Given the description of an element on the screen output the (x, y) to click on. 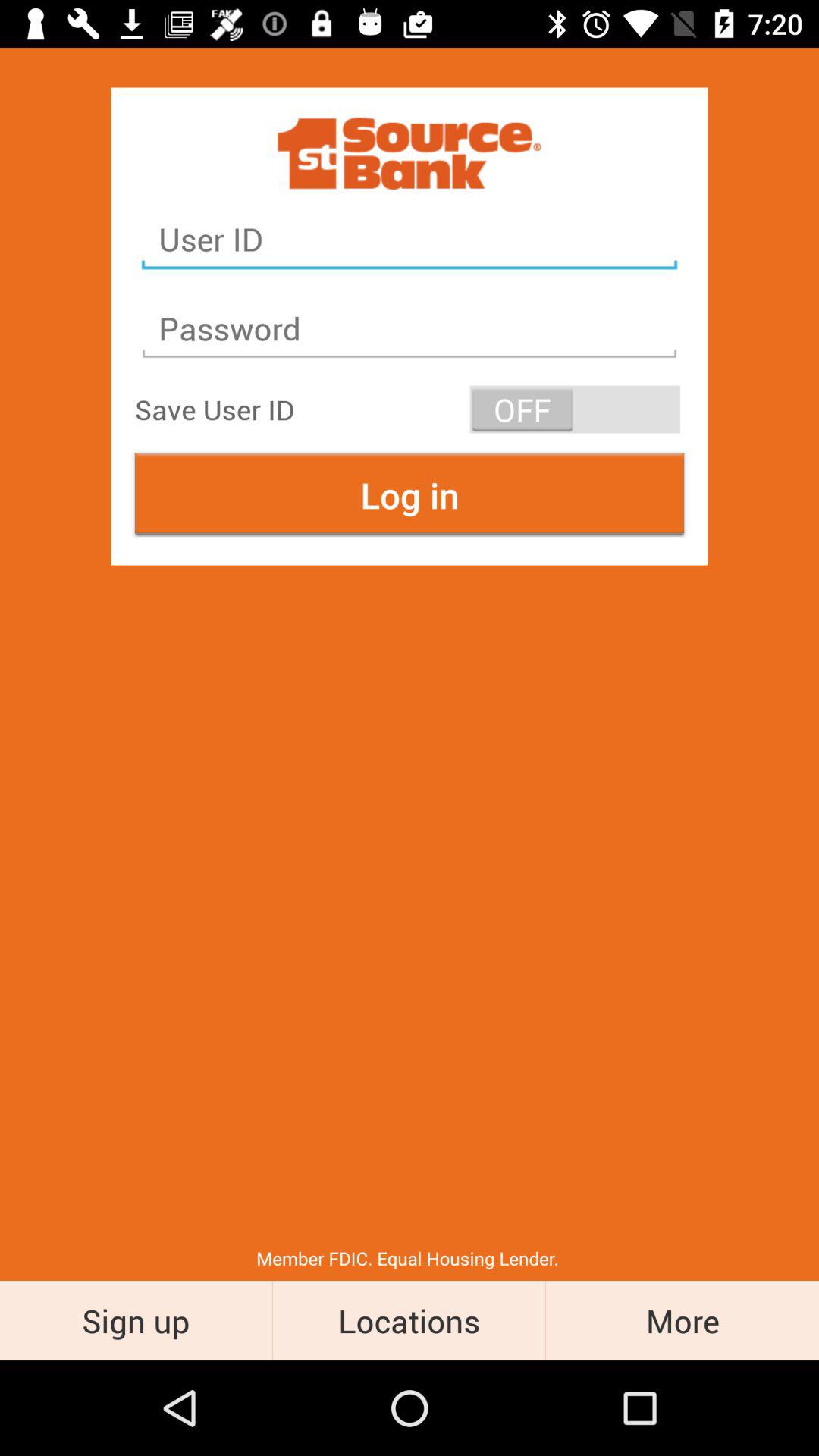
press item next to save user id item (574, 409)
